Given the description of an element on the screen output the (x, y) to click on. 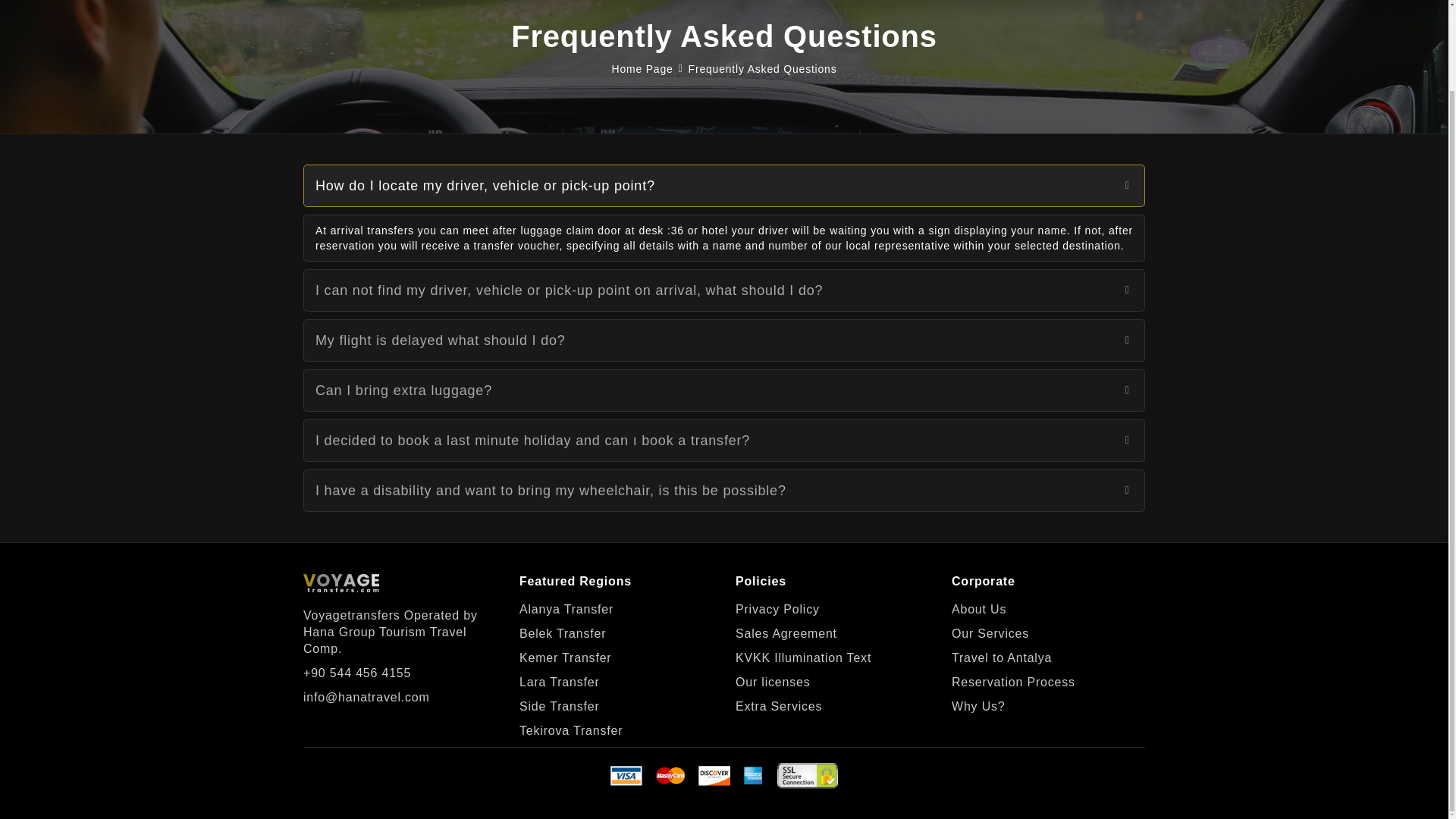
Alanya Transfer (565, 609)
Belek Transfer (562, 633)
Frequently Asked Questions (762, 68)
Can I bring extra luggage? (723, 390)
How do I locate my driver, vehicle or pick-up point? (723, 185)
Home Page (641, 68)
My flight is delayed what should I do? (723, 340)
